Given the description of an element on the screen output the (x, y) to click on. 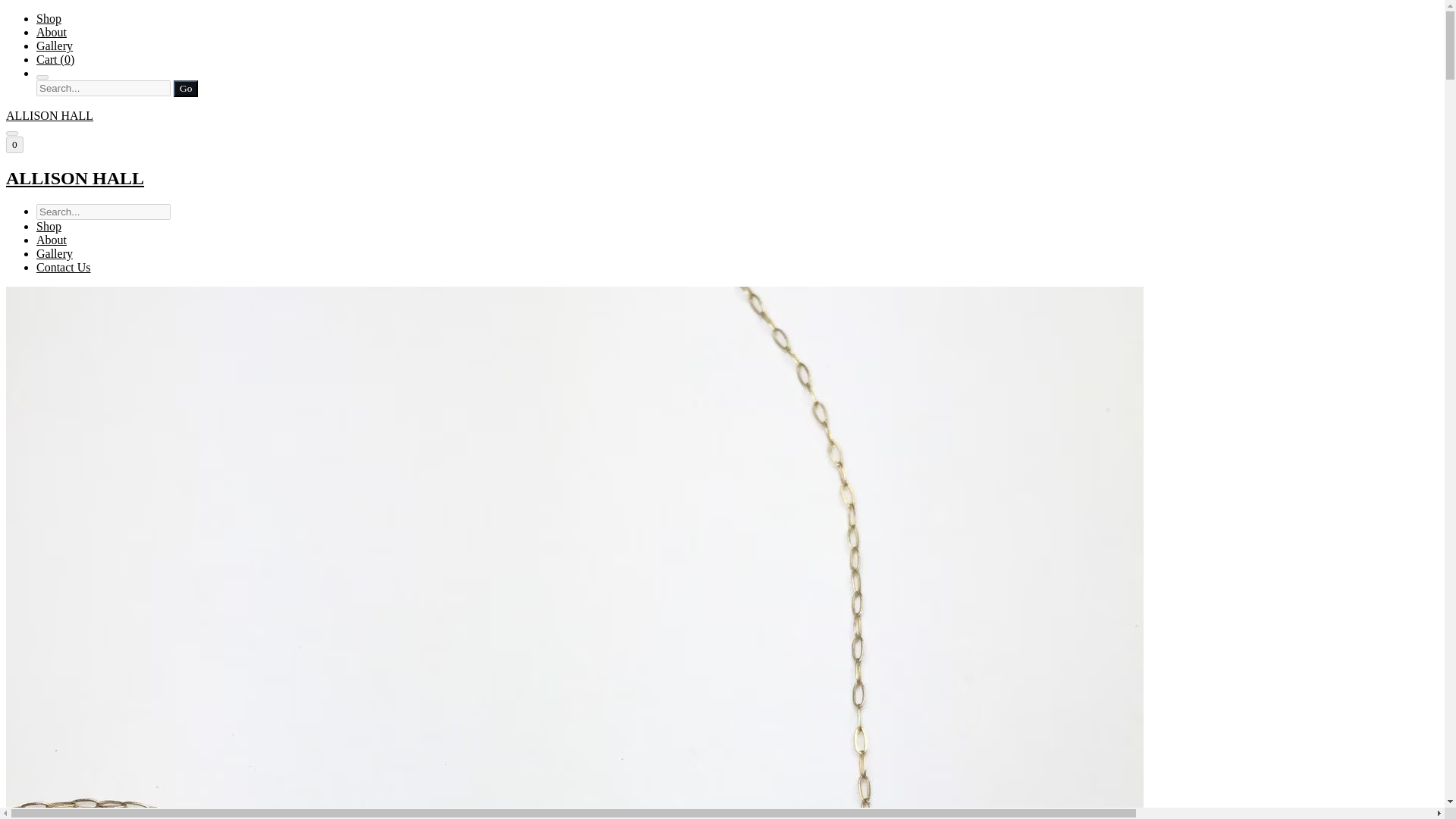
ALLISON HALL (721, 178)
About (51, 31)
Go (185, 88)
Go (185, 88)
Shop (48, 18)
About (51, 239)
0 (14, 144)
Contact Us (63, 267)
Shop (48, 226)
Gallery (54, 253)
Gallery (54, 45)
